Given the description of an element on the screen output the (x, y) to click on. 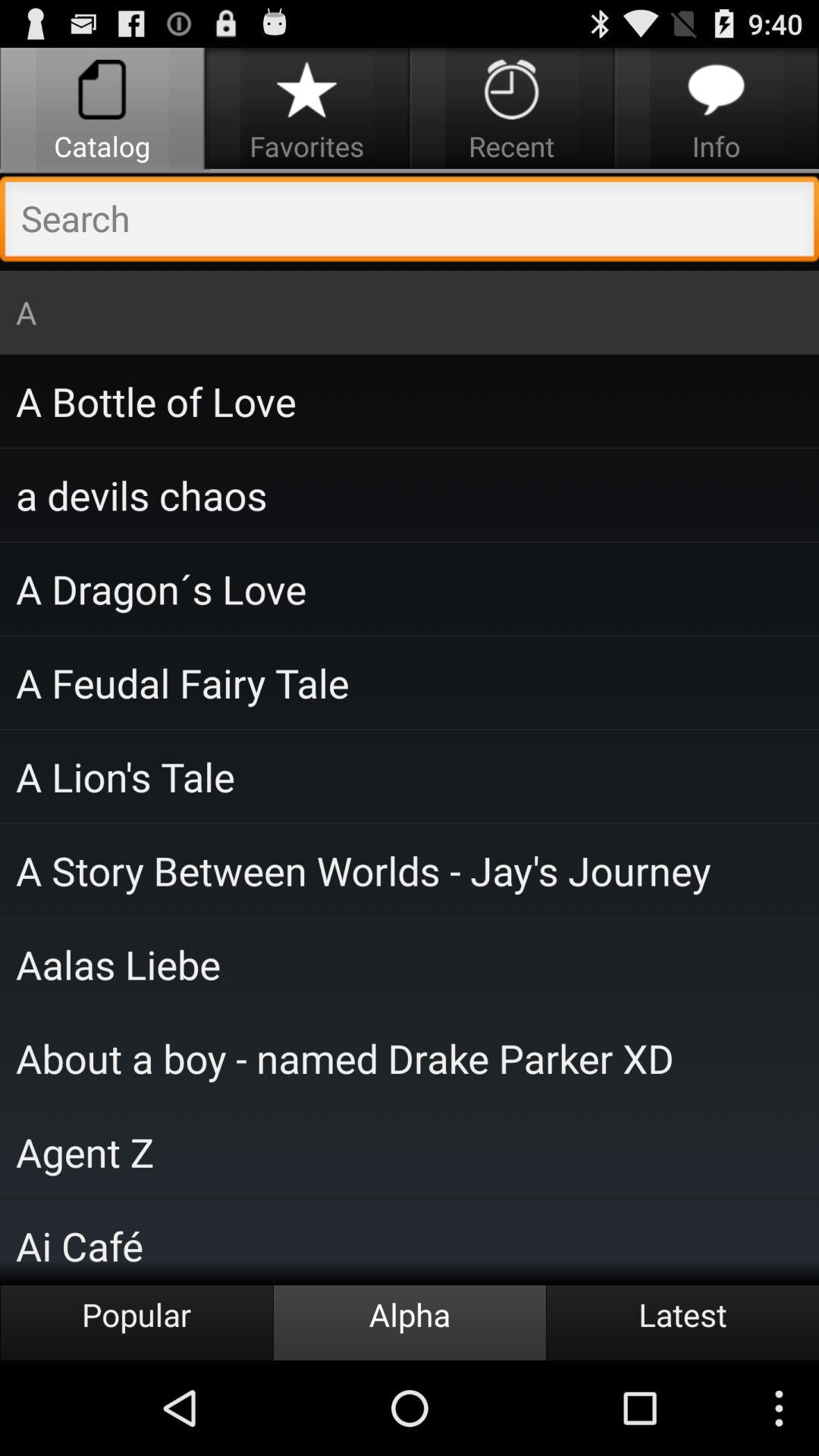
turn off the item next to alpha (136, 1322)
